Given the description of an element on the screen output the (x, y) to click on. 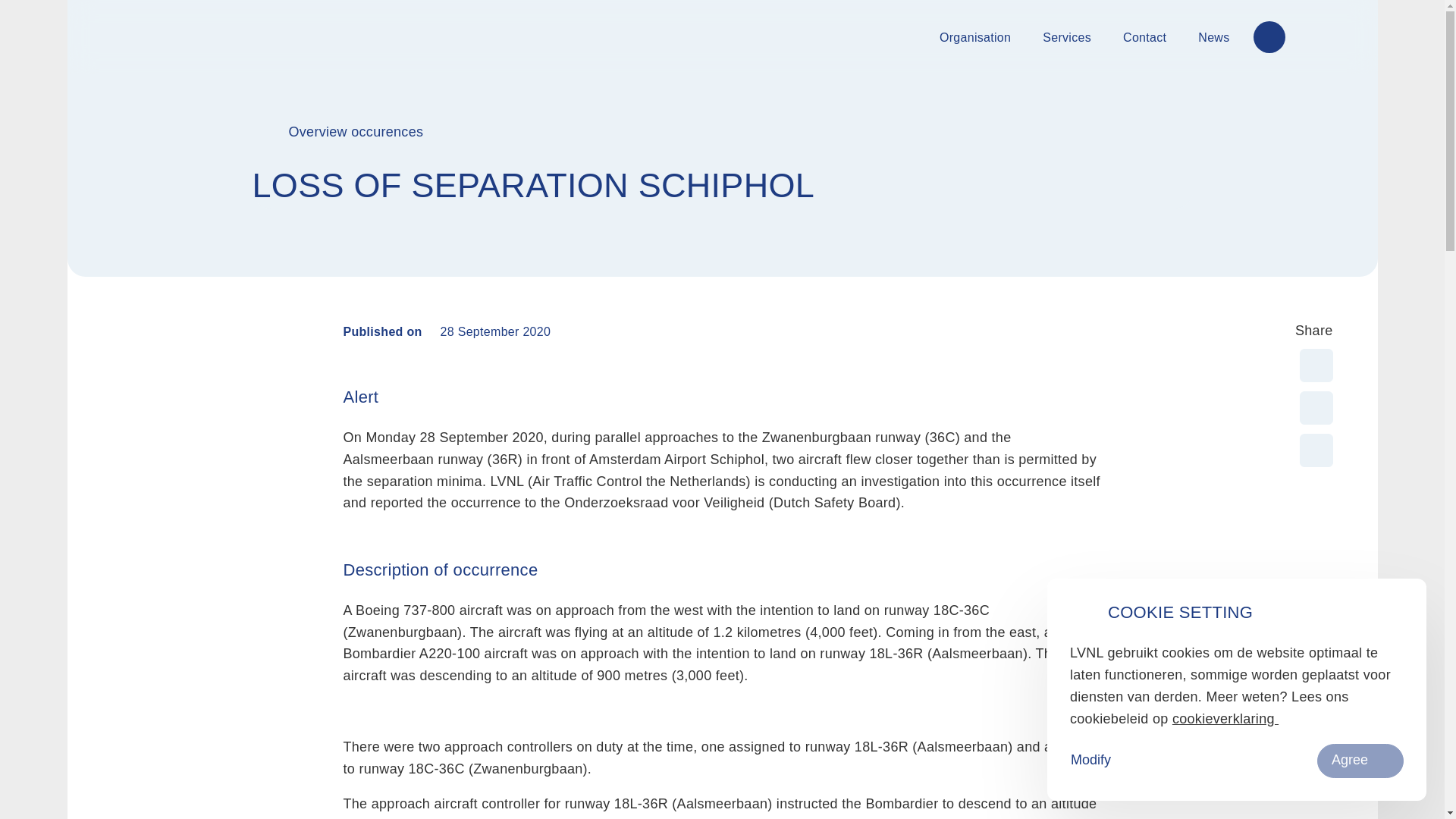
Overview occurences (355, 131)
Services (1067, 37)
News (1213, 37)
cookieverklaring  (1225, 718)
Modify (1091, 760)
Organisation (975, 37)
Contact (1144, 37)
LVNL (152, 36)
